Given the description of an element on the screen output the (x, y) to click on. 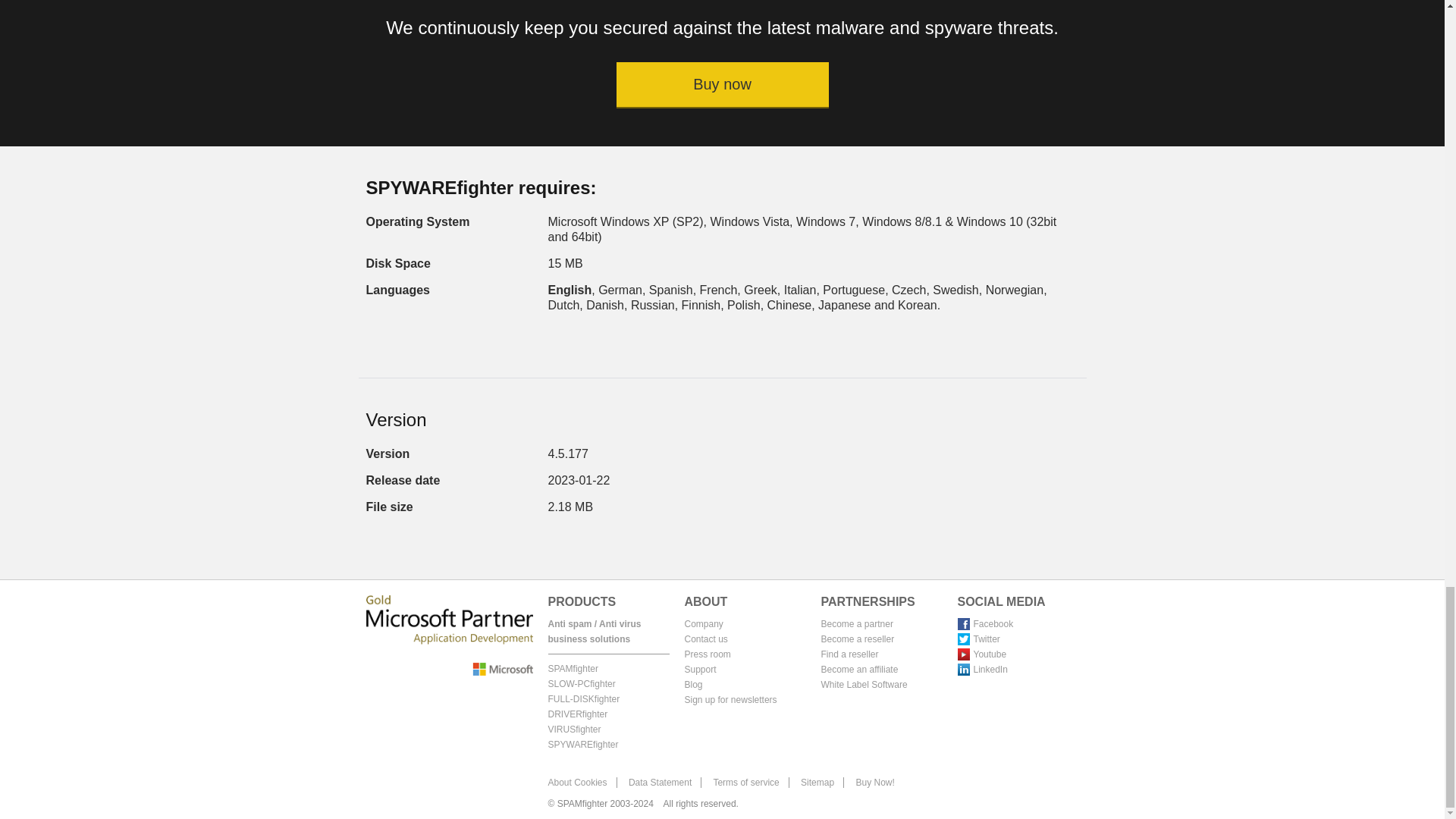
Press room (707, 654)
VIRUSfighter (573, 728)
Microsoft Gold Certified Partner (448, 635)
DRIVERfighter (577, 714)
Support (700, 669)
Sign up for newsletters (730, 699)
Blog (692, 684)
Buy now (721, 85)
SLOW-PCfighter (580, 683)
Company (703, 624)
